Given the description of an element on the screen output the (x, y) to click on. 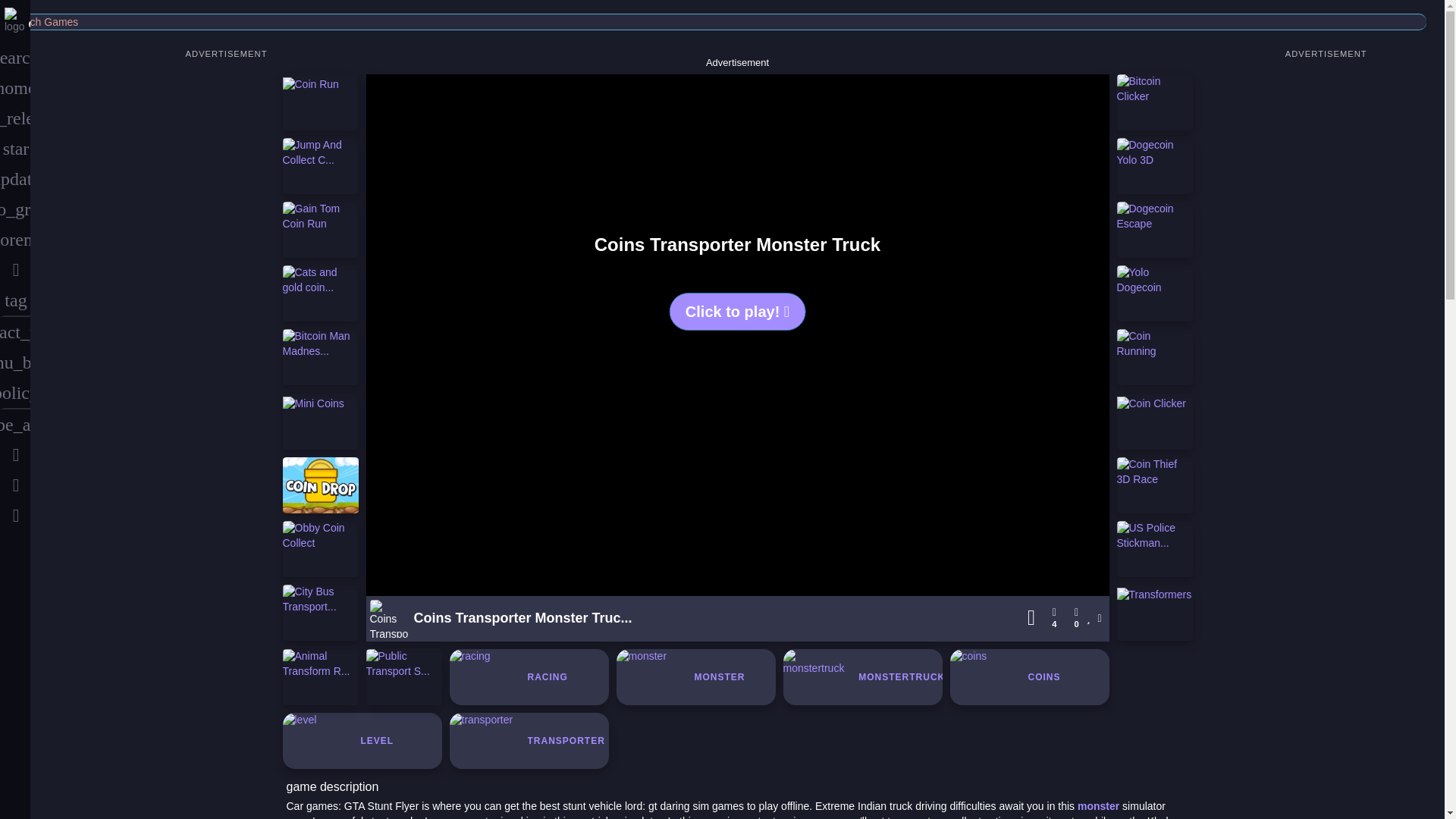
Click to play! (737, 311)
tag (15, 300)
search (15, 57)
policy (15, 393)
autorenew (15, 239)
update (15, 178)
home (15, 87)
star (15, 148)
